Given the description of an element on the screen output the (x, y) to click on. 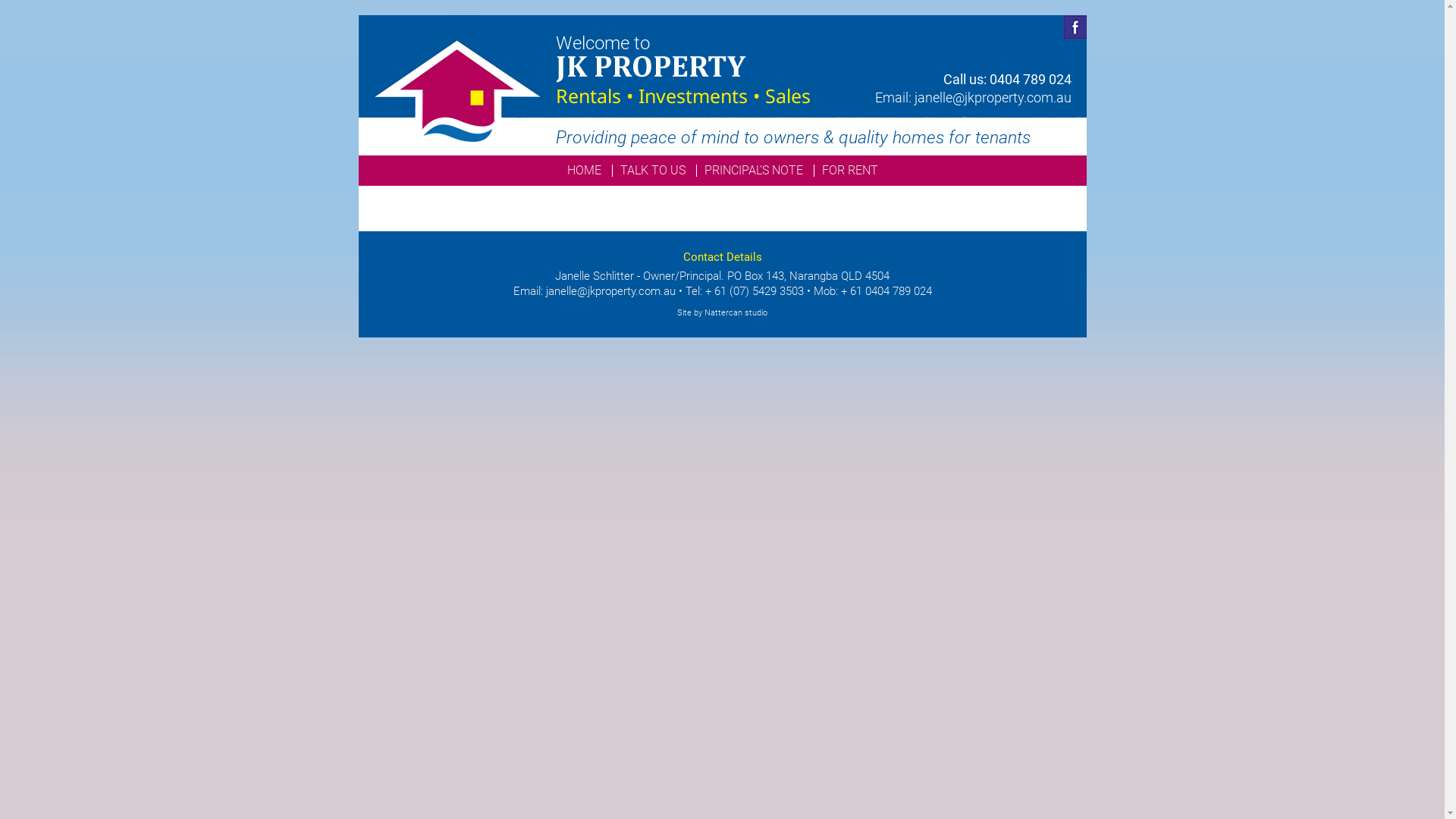
jk property Element type: hover (650, 66)
janelle@jkproperty.com.au Element type: text (992, 97)
HOME Element type: text (583, 170)
Nattercan studio Element type: text (735, 312)
FOR RENT Element type: text (848, 170)
TALK TO US Element type: text (651, 170)
